Given the description of an element on the screen output the (x, y) to click on. 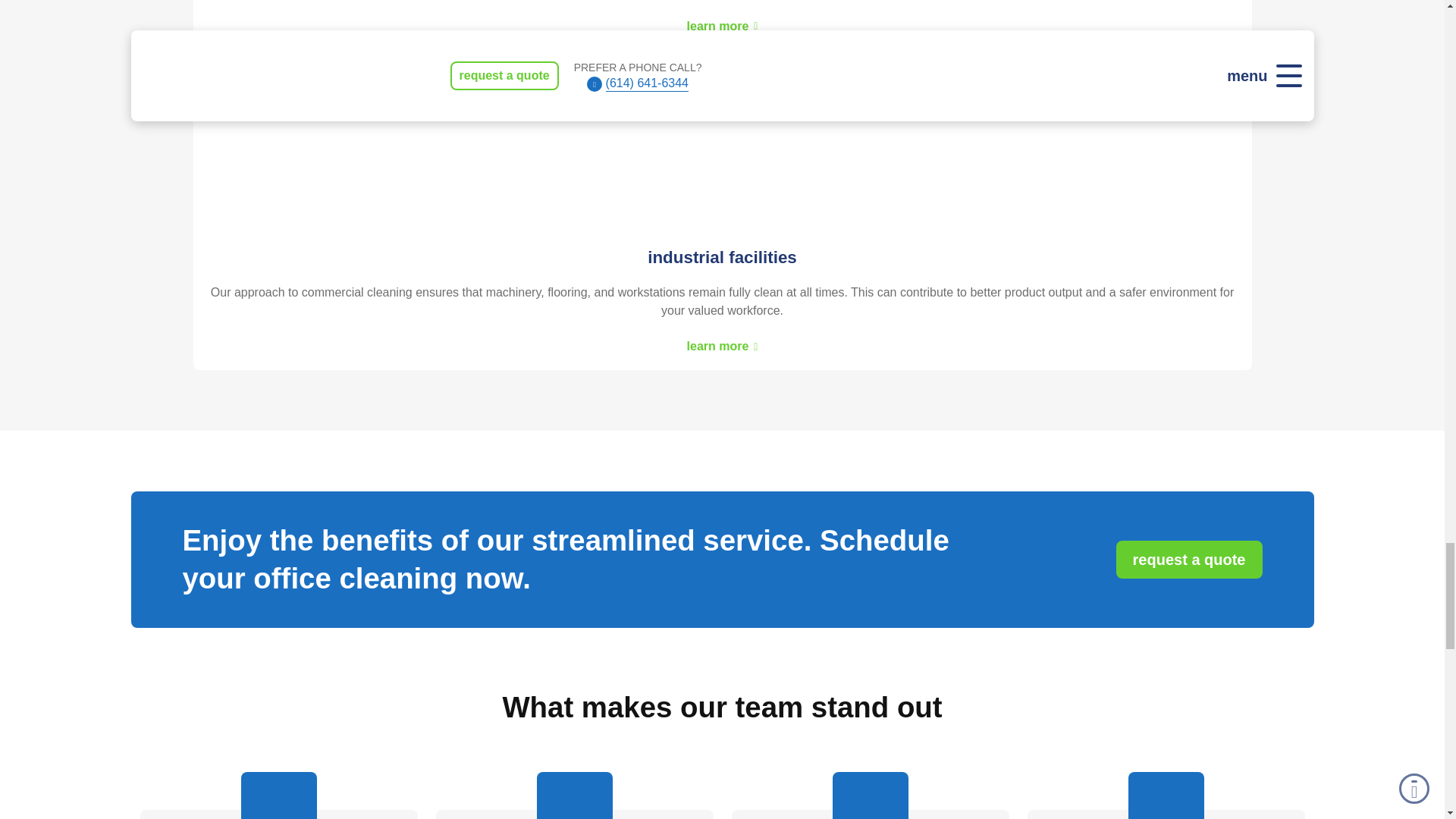
learn more (722, 26)
learn more (722, 346)
request a quote (1189, 559)
